Given the description of an element on the screen output the (x, y) to click on. 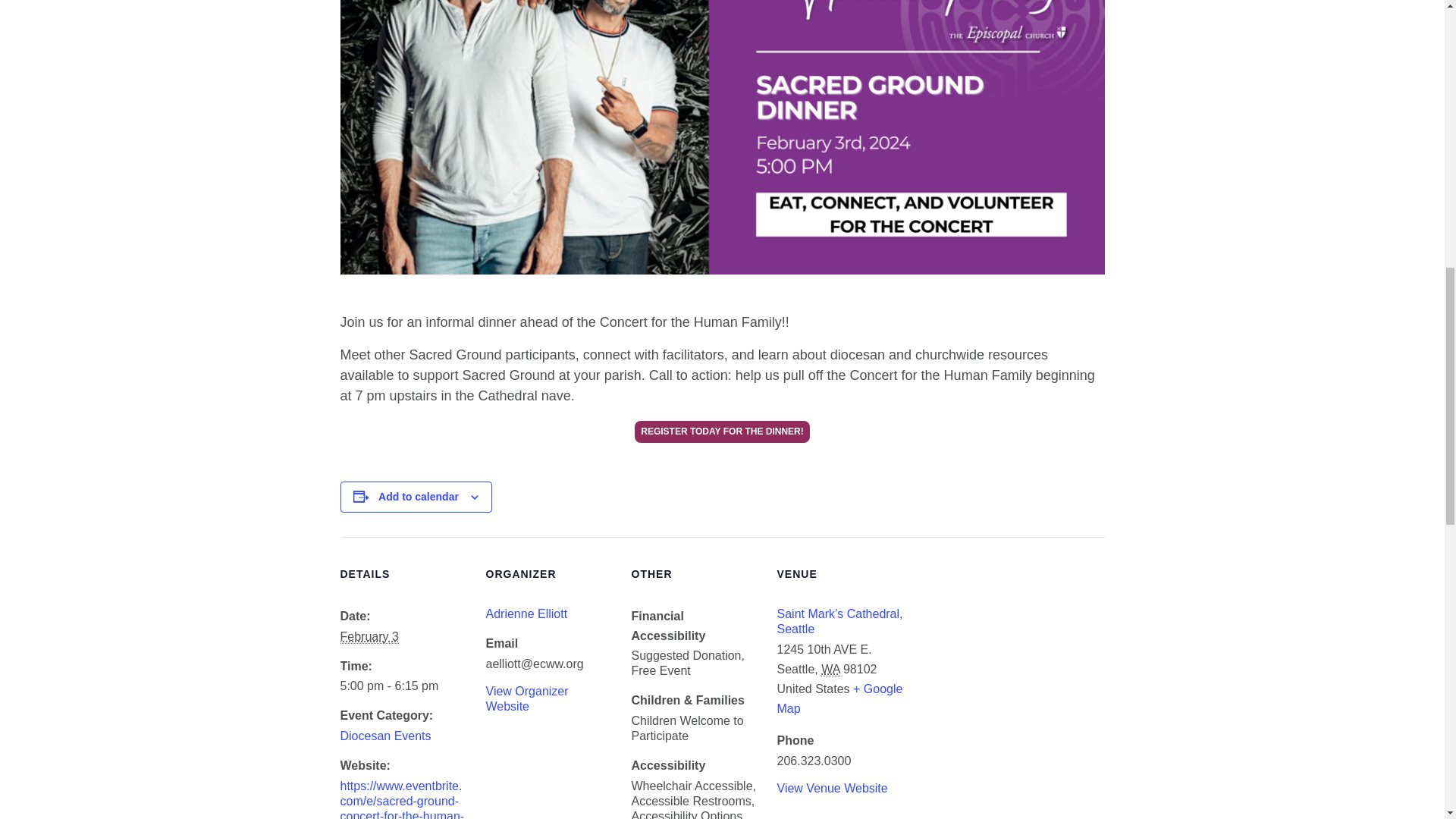
2024-02-03 (368, 636)
Adrienne Elliott (525, 613)
Click to view a Google Map (839, 698)
2024-02-03 (403, 685)
Washington (830, 669)
